Given the description of an element on the screen output the (x, y) to click on. 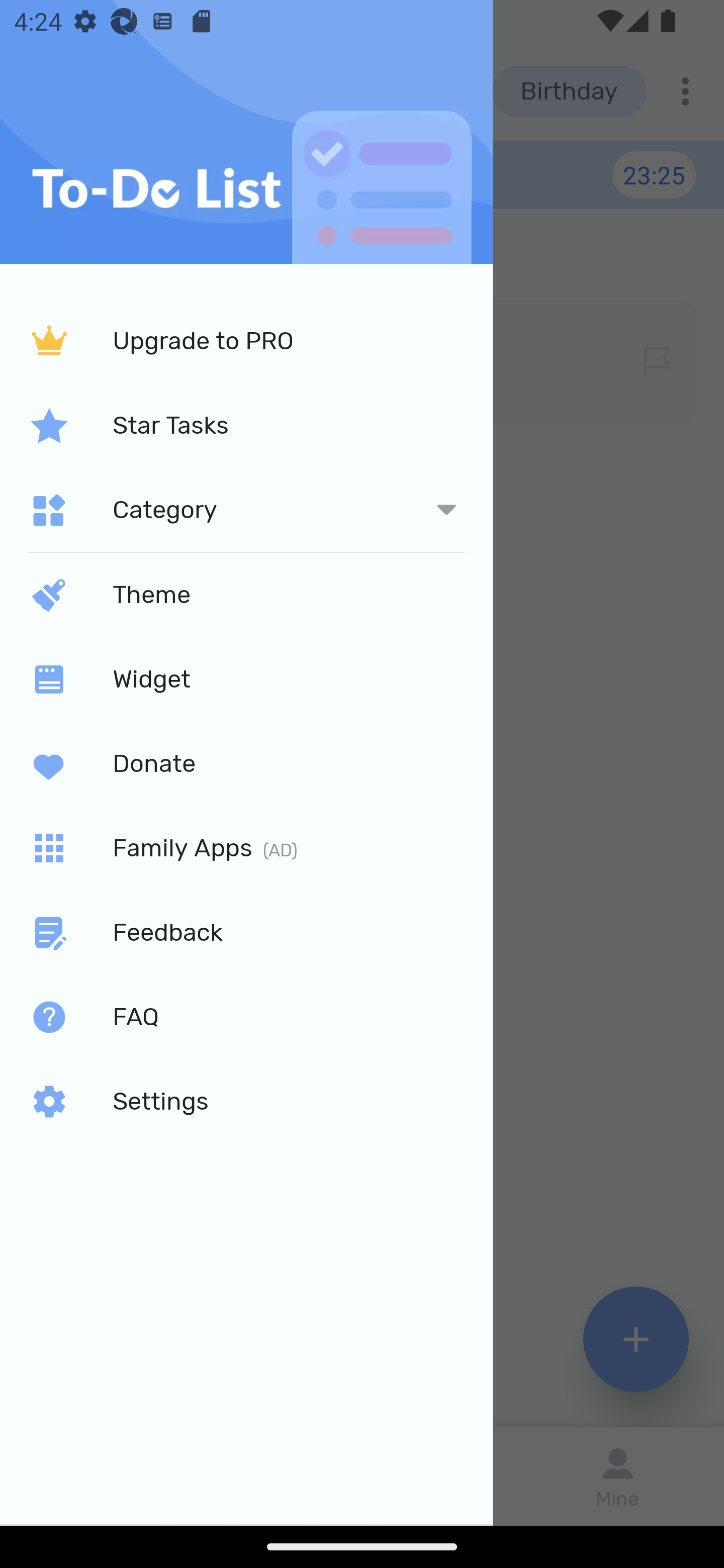
Upgrade to PRO (246, 341)
Star Tasks (246, 425)
Theme (246, 593)
Widget (246, 678)
Donate (246, 763)
Family Apps  (AD) (246, 847)
Feedback (246, 932)
FAQ (246, 1017)
Settings (246, 1101)
